Given the description of an element on the screen output the (x, y) to click on. 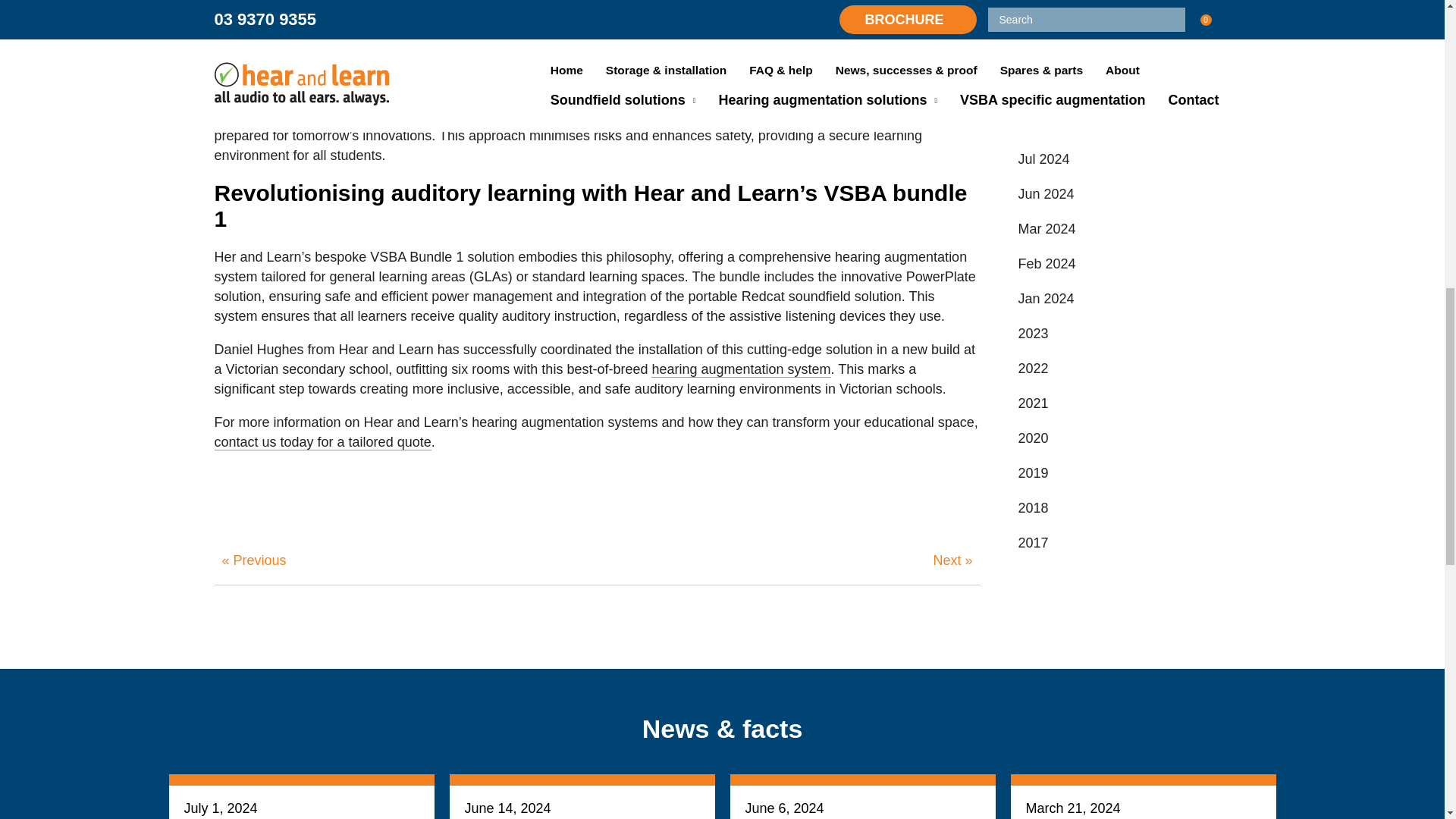
2021 (1123, 210)
Mar 2024 (1123, 36)
contact us today for a tailored quote (322, 442)
2023 (1123, 140)
Jun 2024 (1123, 9)
2020 (1123, 245)
Jan 2024 (1123, 105)
2017 (1123, 349)
2019 (1123, 280)
Feb 2024 (1123, 71)
